Given the description of an element on the screen output the (x, y) to click on. 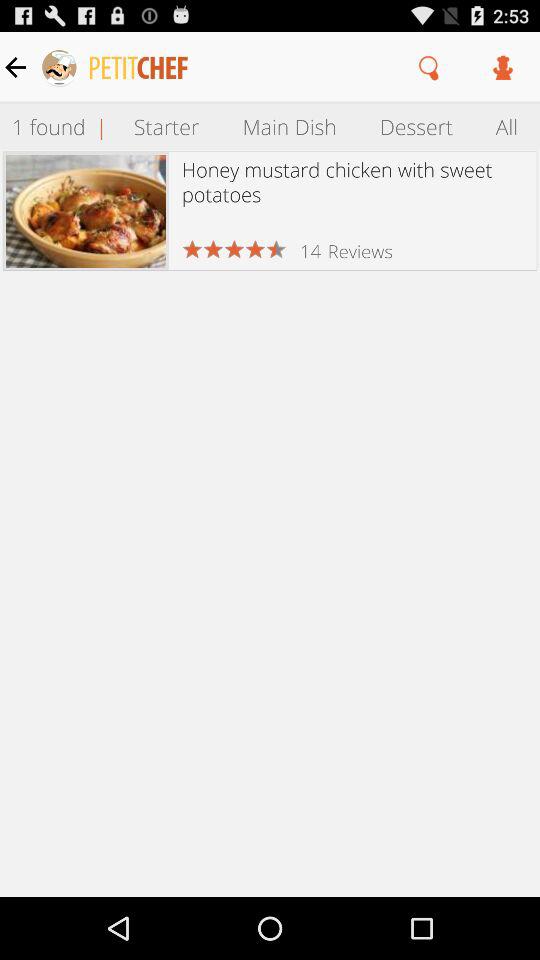
turn off icon below 1 found (86, 210)
